Given the description of an element on the screen output the (x, y) to click on. 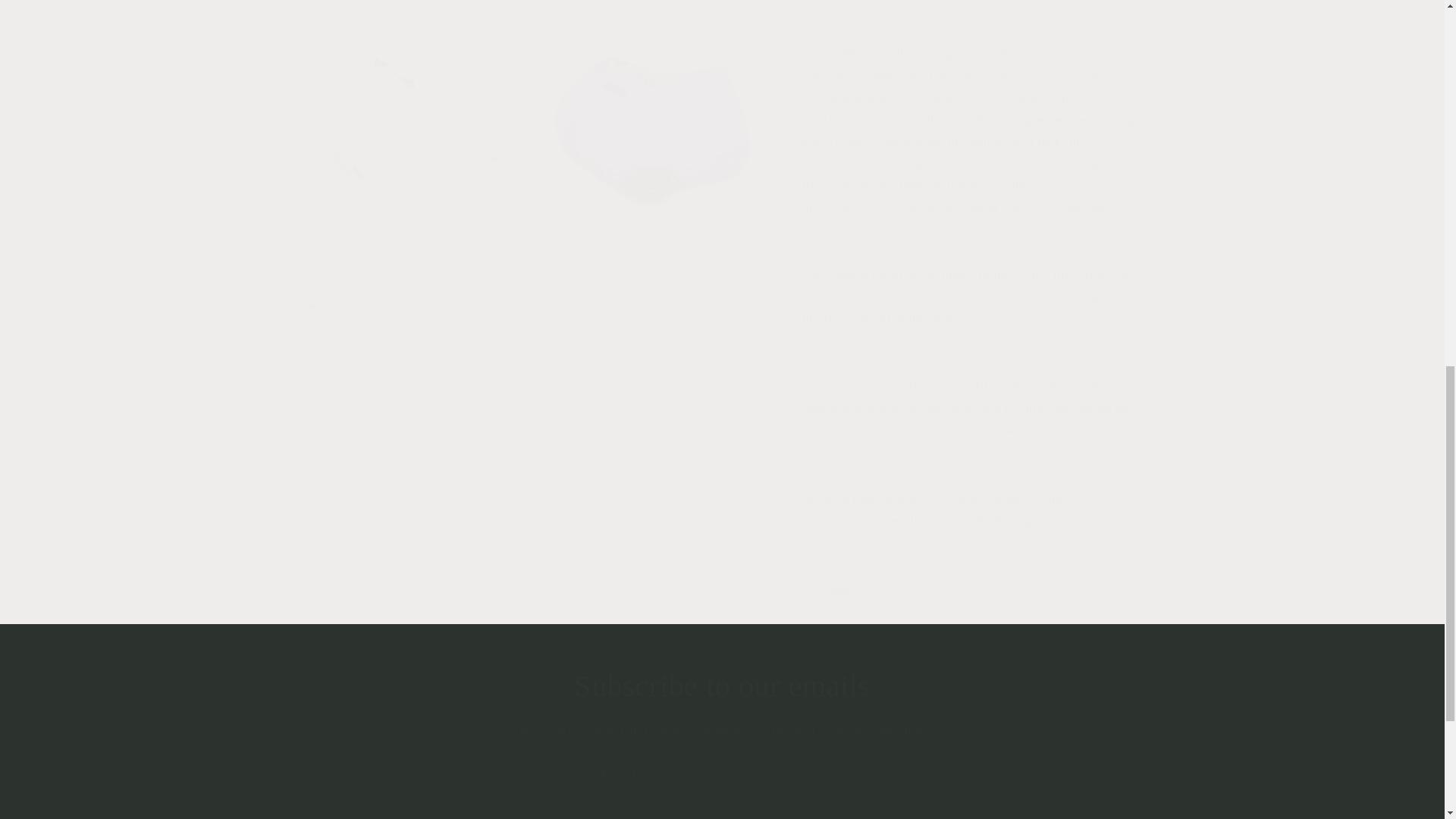
Subscribe to our emails (721, 685)
Email (722, 775)
